Given the description of an element on the screen output the (x, y) to click on. 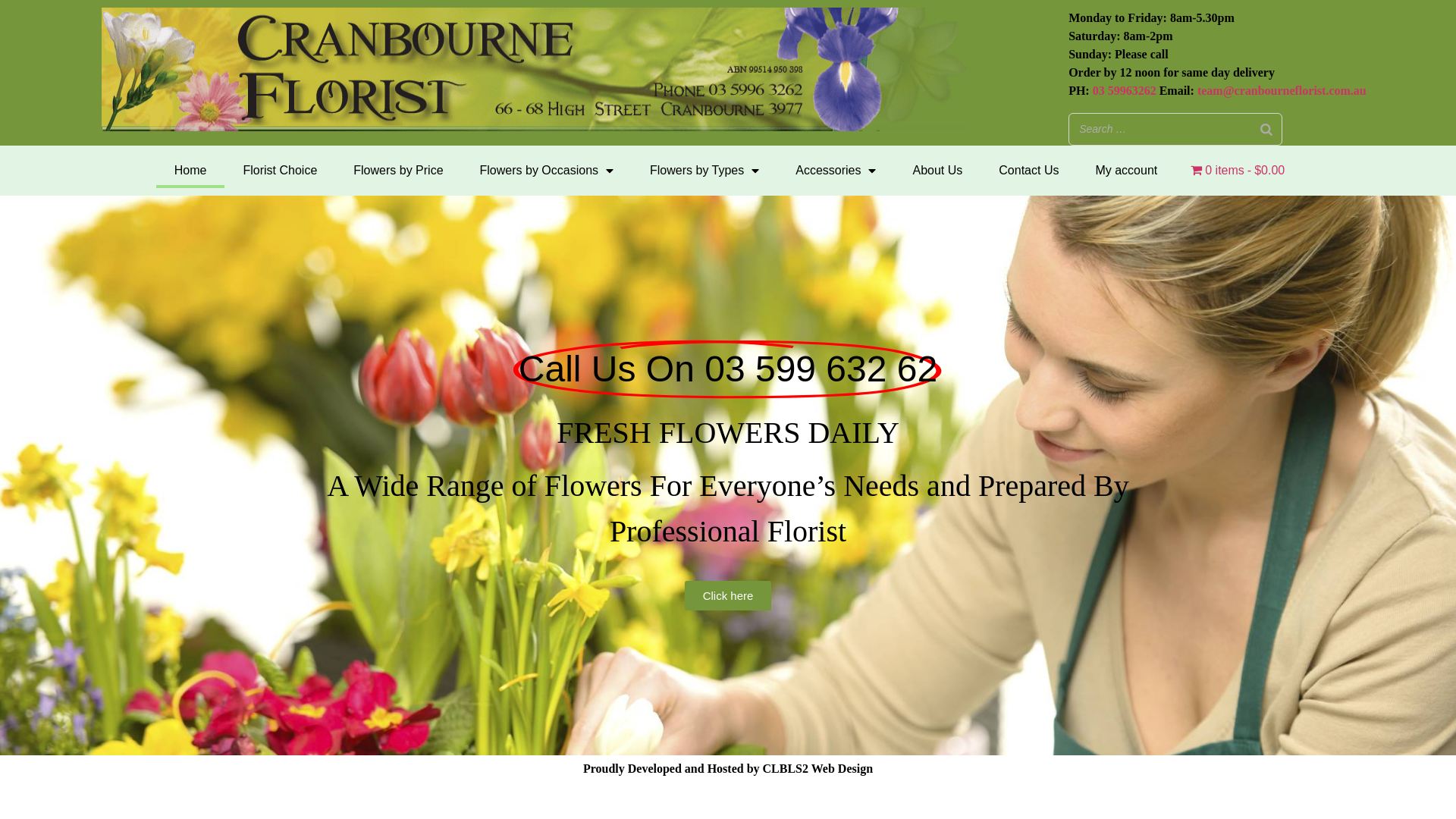
Accessories Element type: text (835, 170)
team@cranbourneflorist.com.au Element type: text (1281, 90)
Proudly Developed and Hosted by CLBLS2 Web Design Element type: text (727, 768)
Flowers by Price Element type: text (398, 170)
About Us Element type: text (937, 170)
0 items
$0.00 Element type: text (1237, 170)
03 59963262 Element type: text (1124, 90)
My account Element type: text (1125, 170)
Flowers by Occasions Element type: text (546, 170)
Flowers by Types Element type: text (704, 170)
Click here Element type: text (727, 595)
Contact Us Element type: text (1028, 170)
Florist Choice Element type: text (279, 170)
Home Element type: text (190, 170)
